Given the description of an element on the screen output the (x, y) to click on. 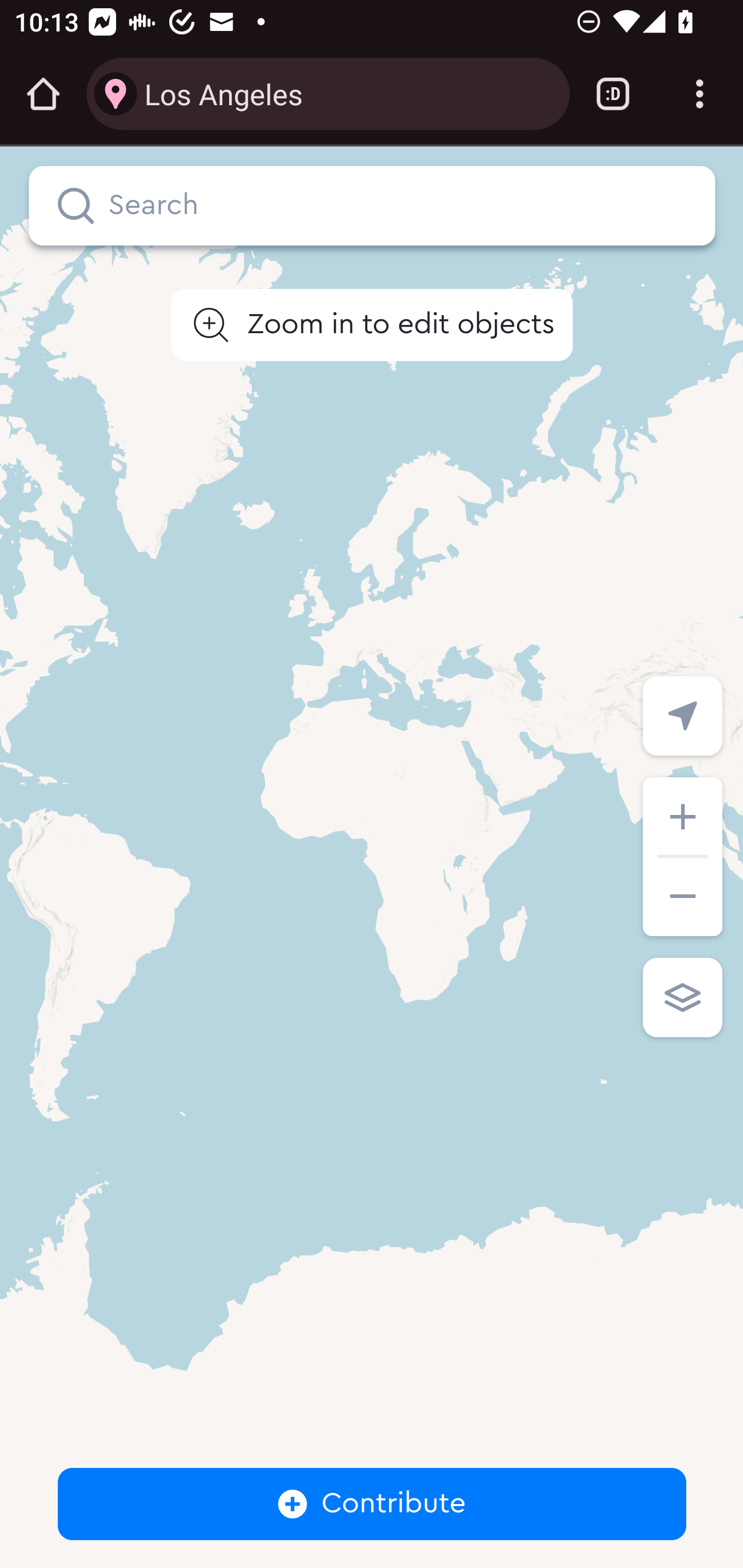
Open the home page (43, 93)
Connection is secure (115, 93)
Switch or close tabs (612, 93)
Customize and control Google Chrome (699, 93)
Los Angeles (349, 92)
